Given the description of an element on the screen output the (x, y) to click on. 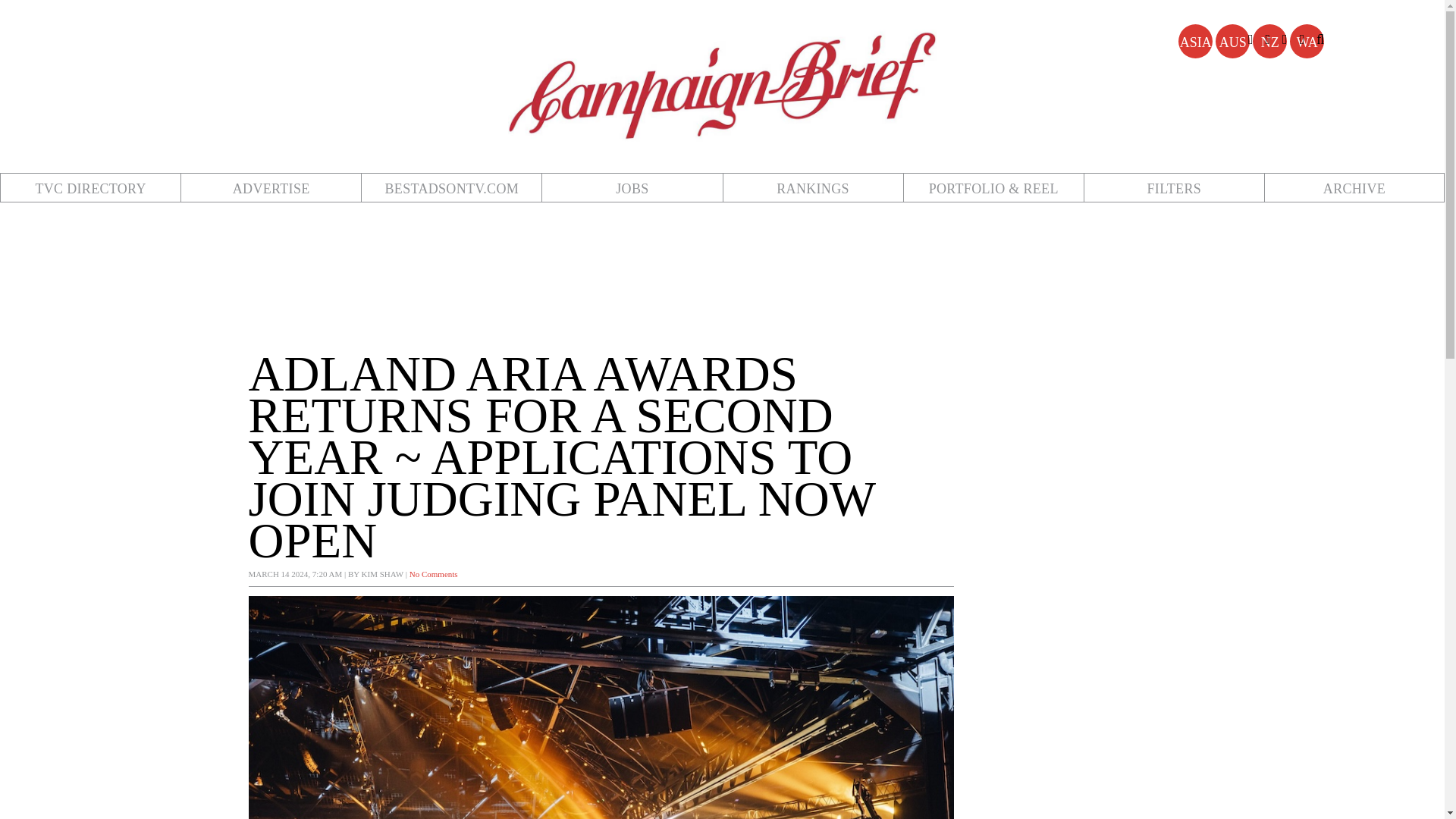
ASIA (1194, 41)
NZ (1269, 41)
AUS (1232, 41)
3rd party ad content (734, 276)
